Given the description of an element on the screen output the (x, y) to click on. 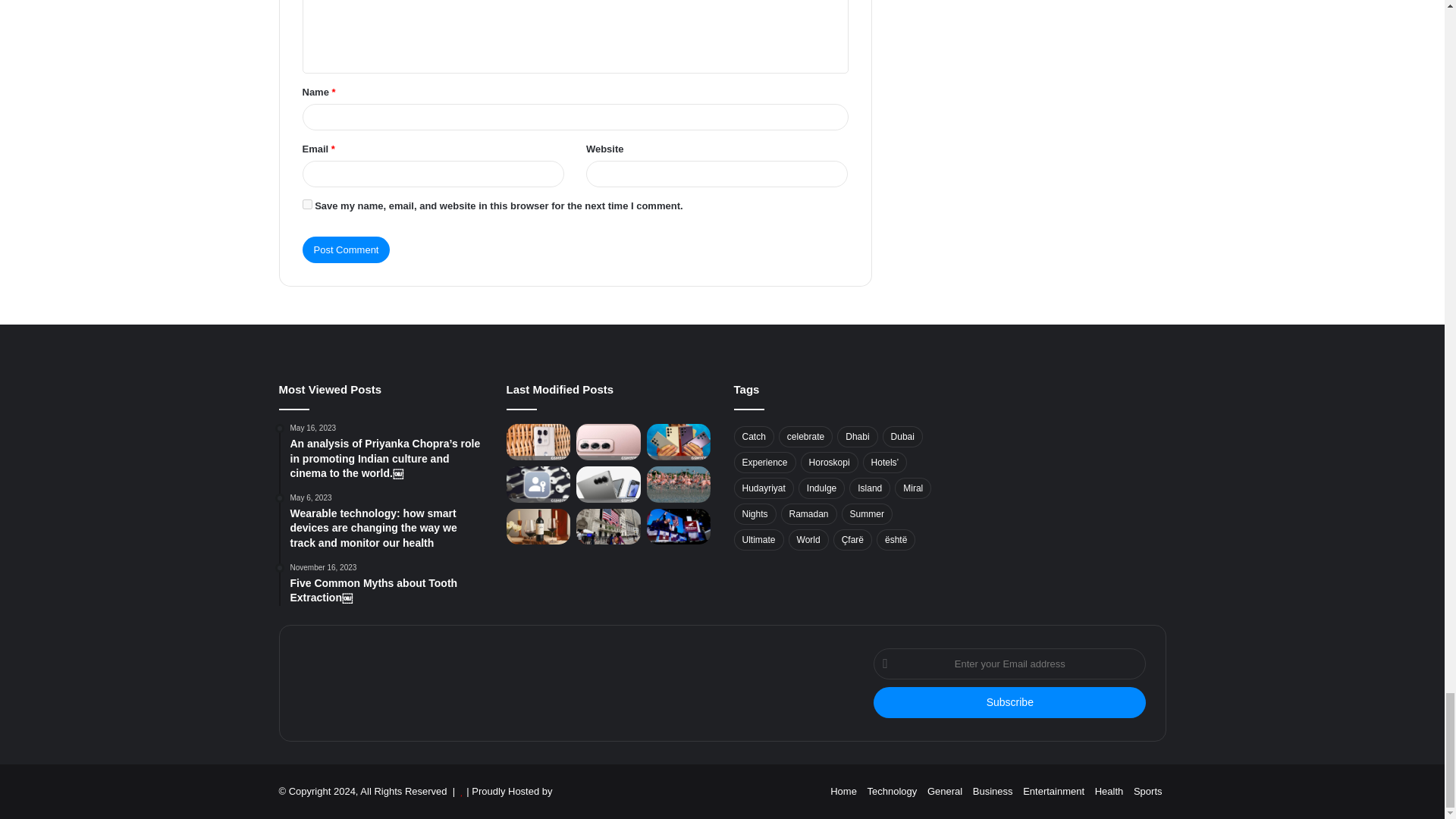
Post Comment (345, 249)
yes (306, 204)
Subscribe (1009, 702)
